Given the description of an element on the screen output the (x, y) to click on. 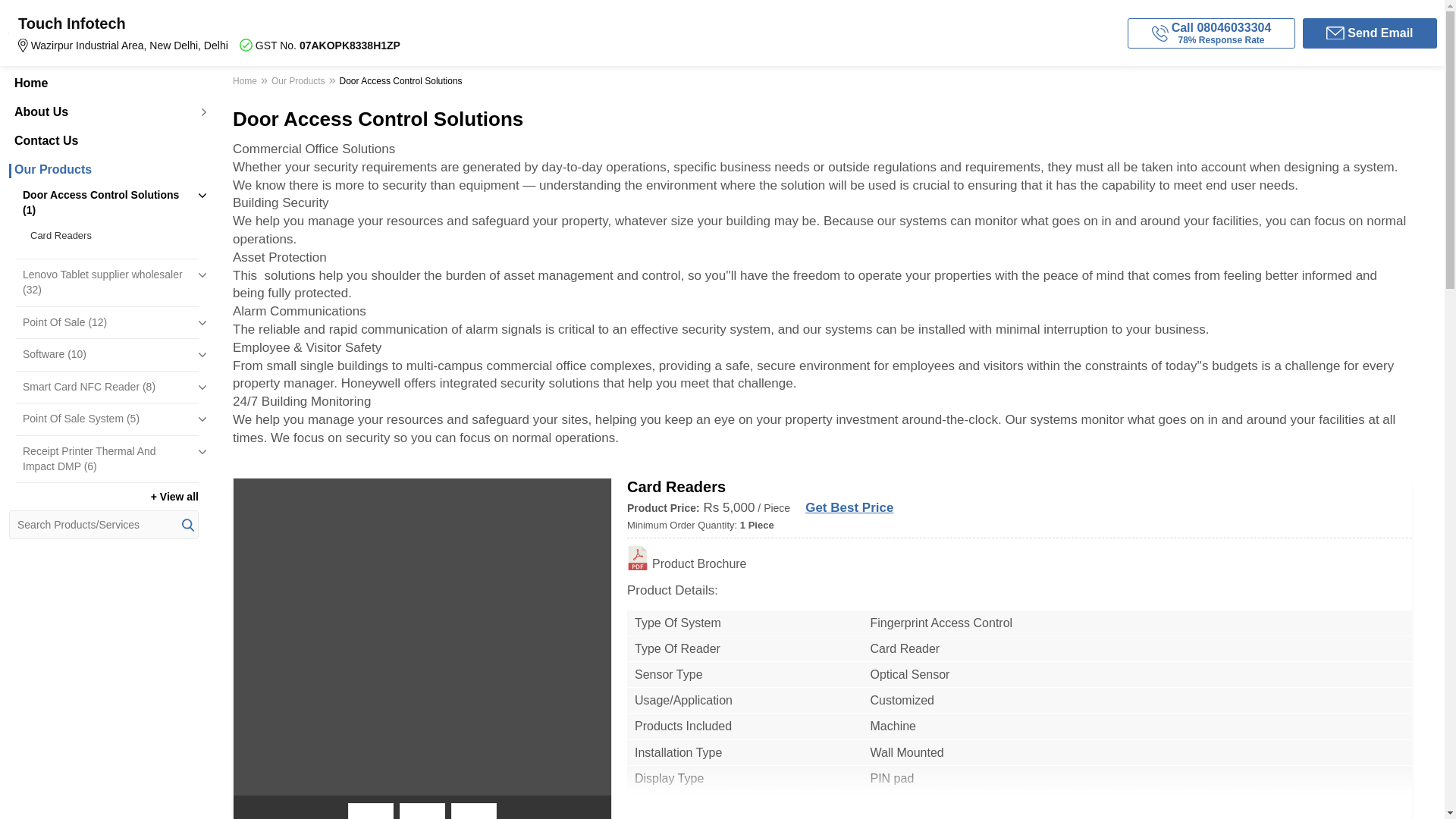
Our Products (103, 169)
About Us (103, 111)
Contact Us (103, 141)
Home (103, 82)
Card Readers (110, 235)
